Given the description of an element on the screen output the (x, y) to click on. 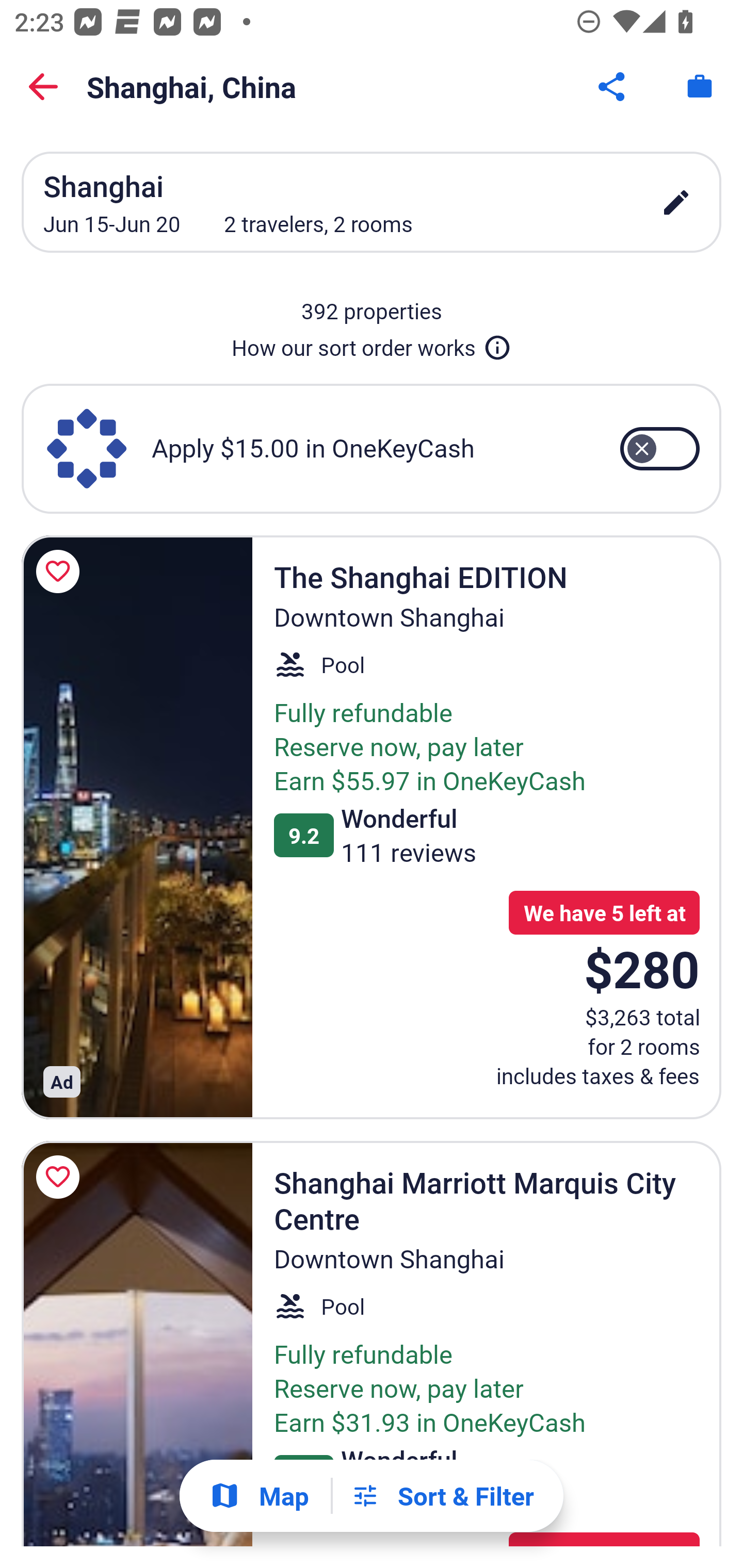
Back (43, 86)
Share Button (612, 86)
Trips. Button (699, 86)
Shanghai Jun 15-Jun 20 2 travelers, 2 rooms edit (371, 202)
How our sort order works (371, 344)
Save The Shanghai EDITION to a trip (61, 571)
The Shanghai EDITION (136, 826)
Shanghai Marriott Marquis City Centre (136, 1343)
Filters Sort & Filter Filters Button (442, 1495)
Show map Map Show map Button (258, 1495)
